Given the description of an element on the screen output the (x, y) to click on. 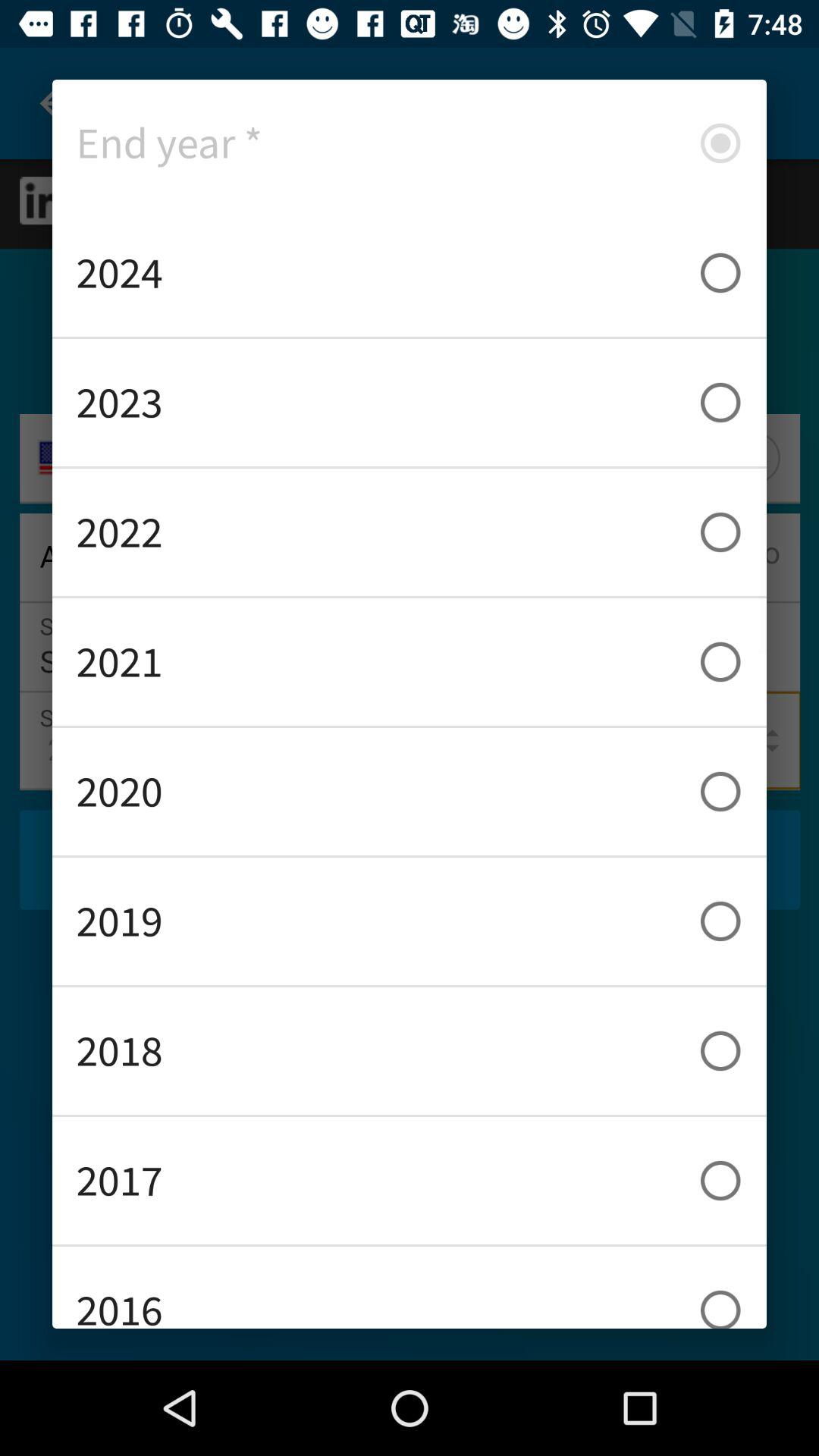
open the icon above the 2016 icon (409, 1180)
